Given the description of an element on the screen output the (x, y) to click on. 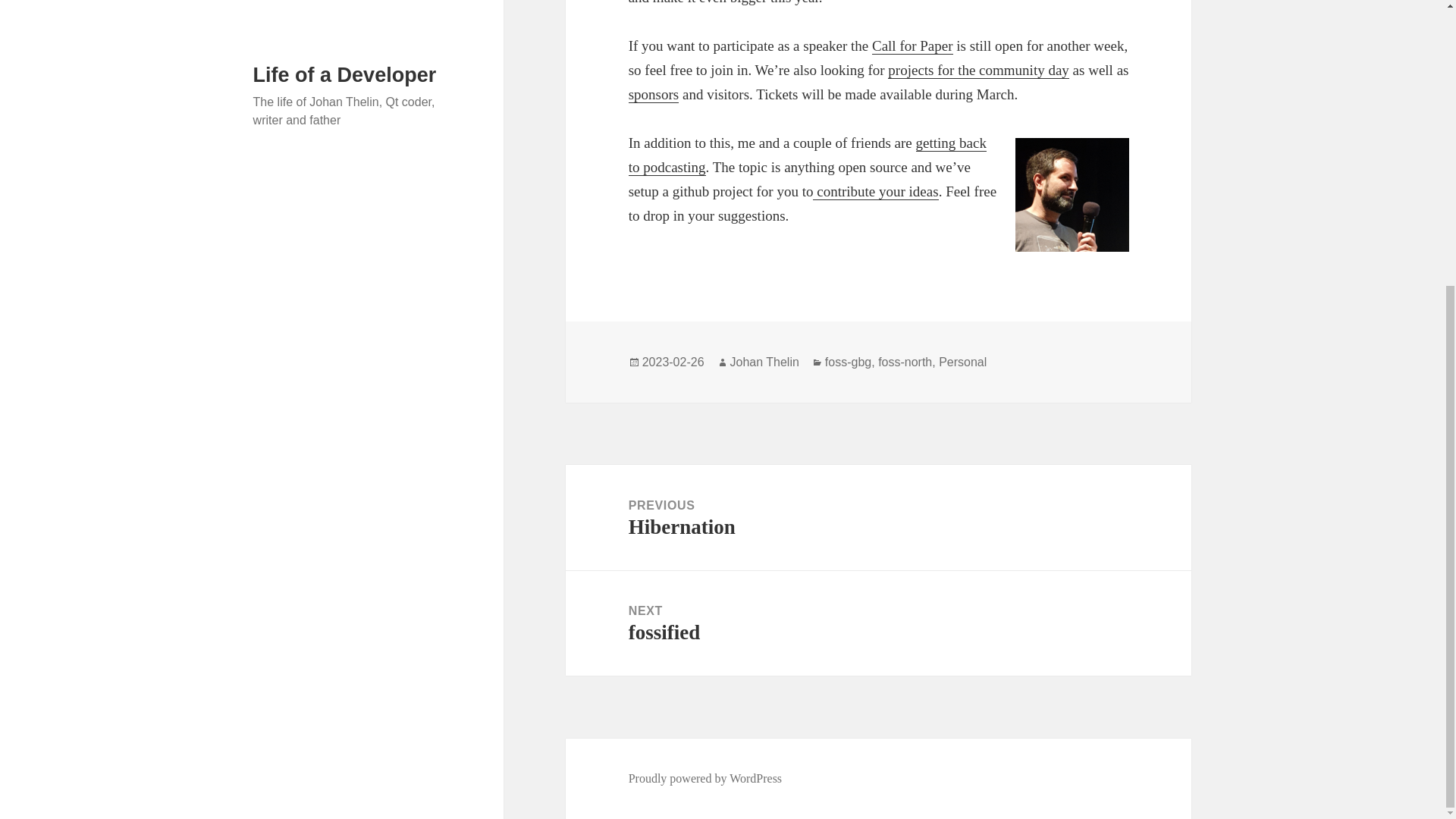
Personal (963, 362)
sponsors (653, 94)
Johan Thelin (764, 362)
2023-02-26 (673, 362)
projects for the community day (978, 70)
foss-gbg (847, 362)
contribute your ideas (878, 517)
Proudly powered by WordPress (874, 191)
getting back to podcasting (704, 778)
Call for Paper (807, 155)
foss-north (912, 45)
